Given the description of an element on the screen output the (x, y) to click on. 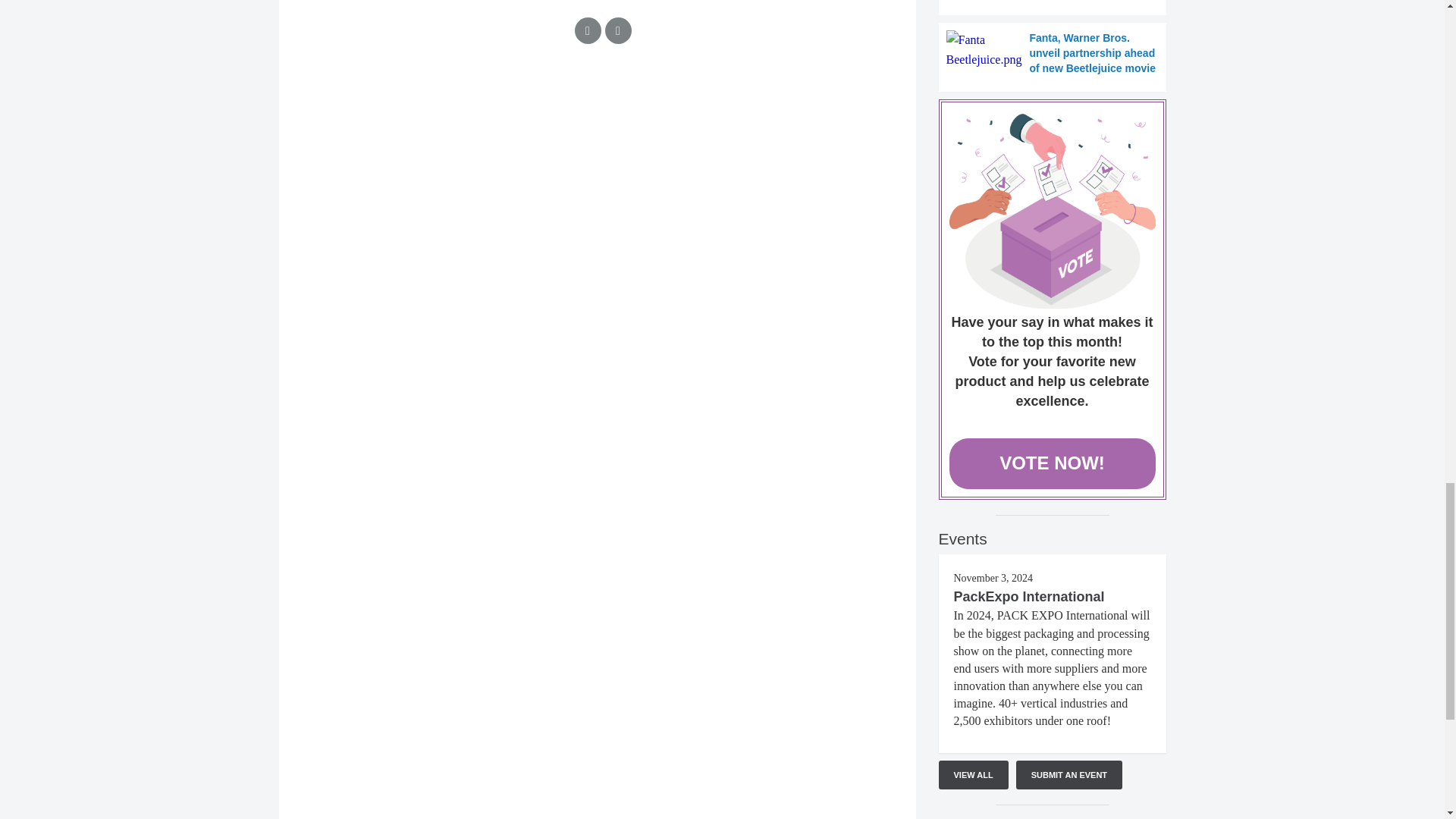
Vote (1052, 210)
PackExpo International (1029, 596)
